Given the description of an element on the screen output the (x, y) to click on. 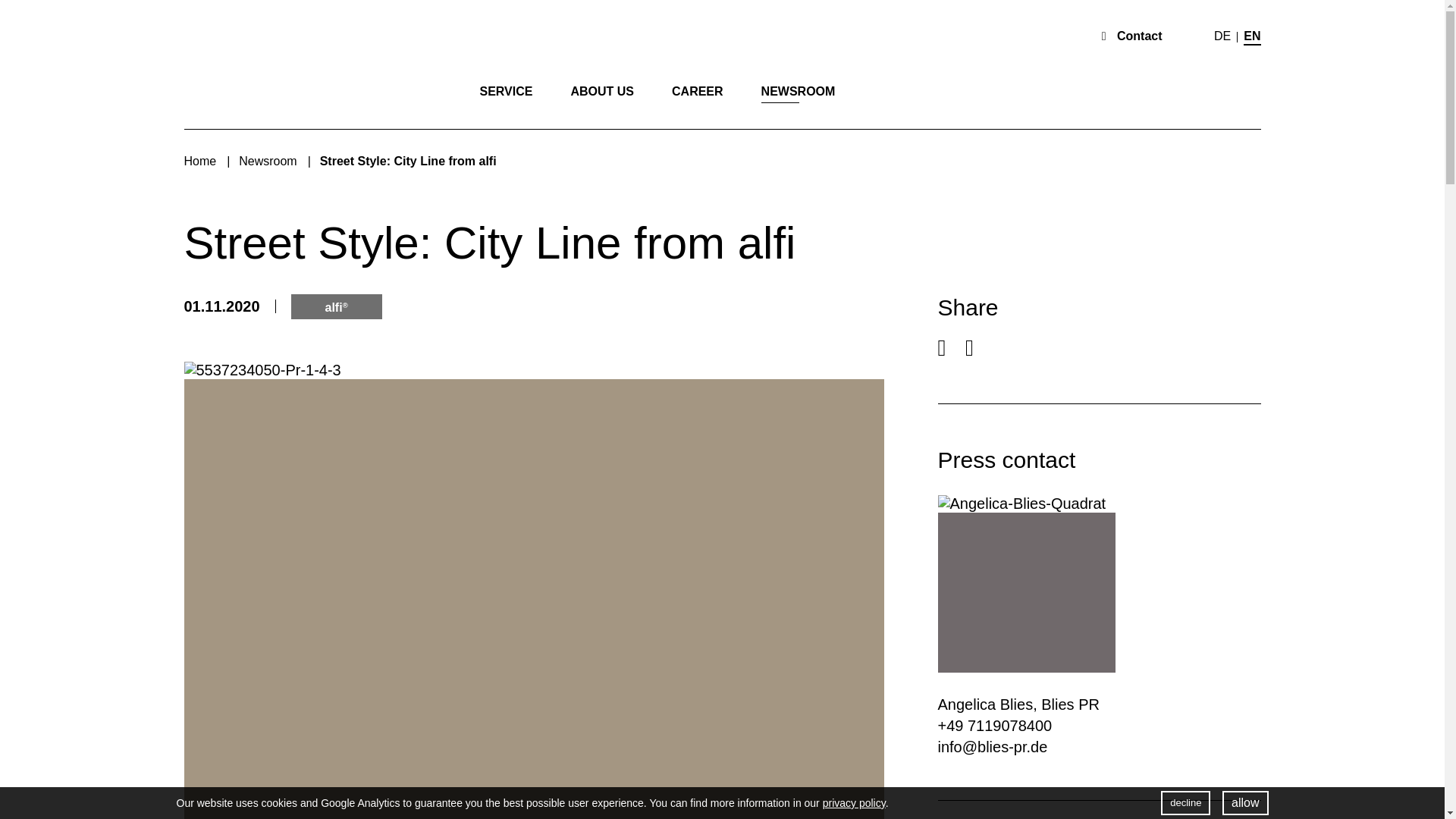
English (1251, 36)
NEWSROOM (798, 91)
EN (1251, 36)
Street Style: City Line from alfi (408, 160)
Home (199, 160)
Newsroom (267, 160)
DE (1222, 36)
CAREER (697, 91)
Contact (1131, 35)
Deutsch (1222, 36)
